Given the description of an element on the screen output the (x, y) to click on. 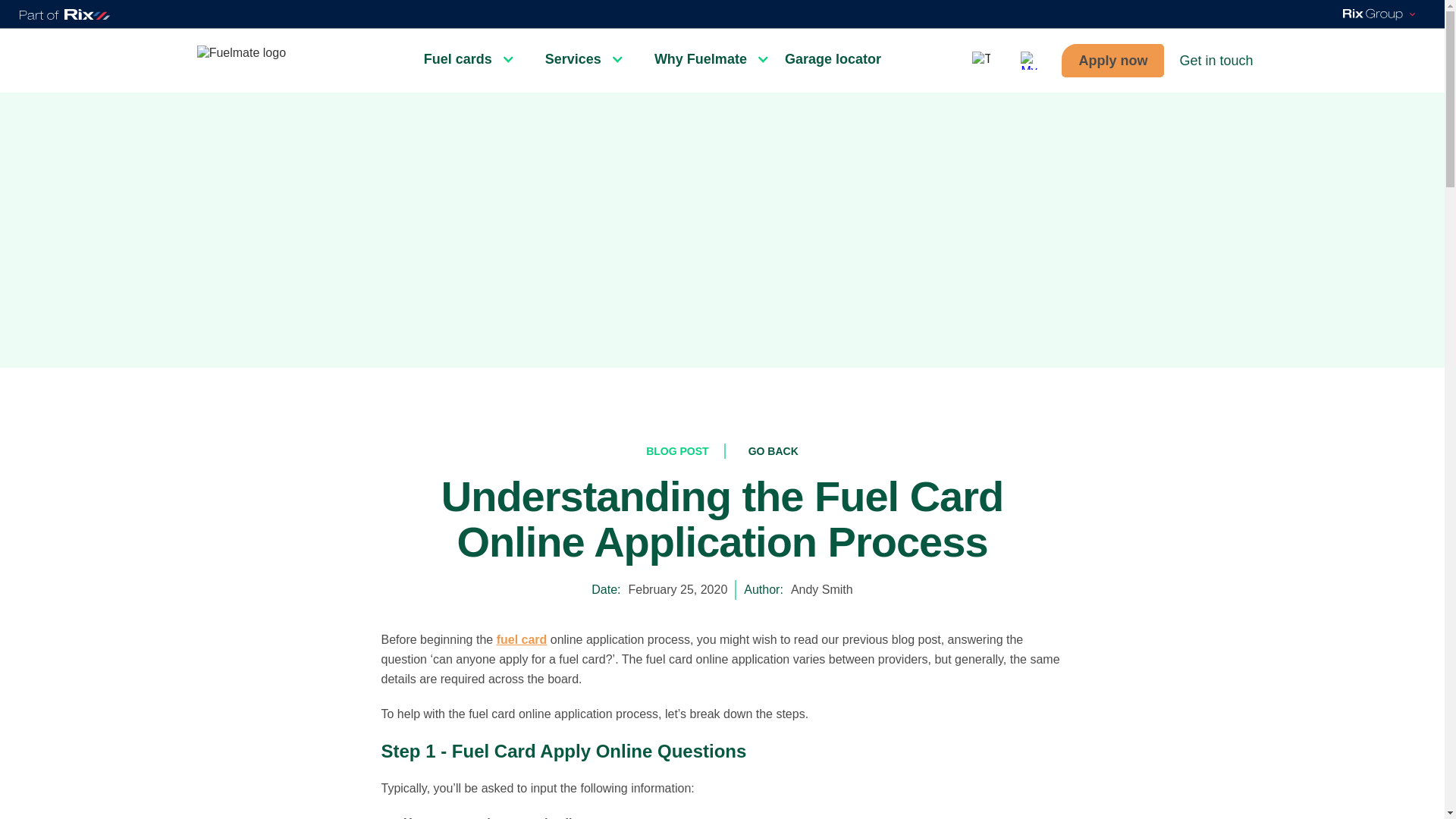
Services (576, 58)
Garage locator (836, 58)
Fuel cards (461, 58)
Apply now (1112, 60)
Why Fuelmate (703, 58)
Get in touch (1215, 60)
